Given the description of an element on the screen output the (x, y) to click on. 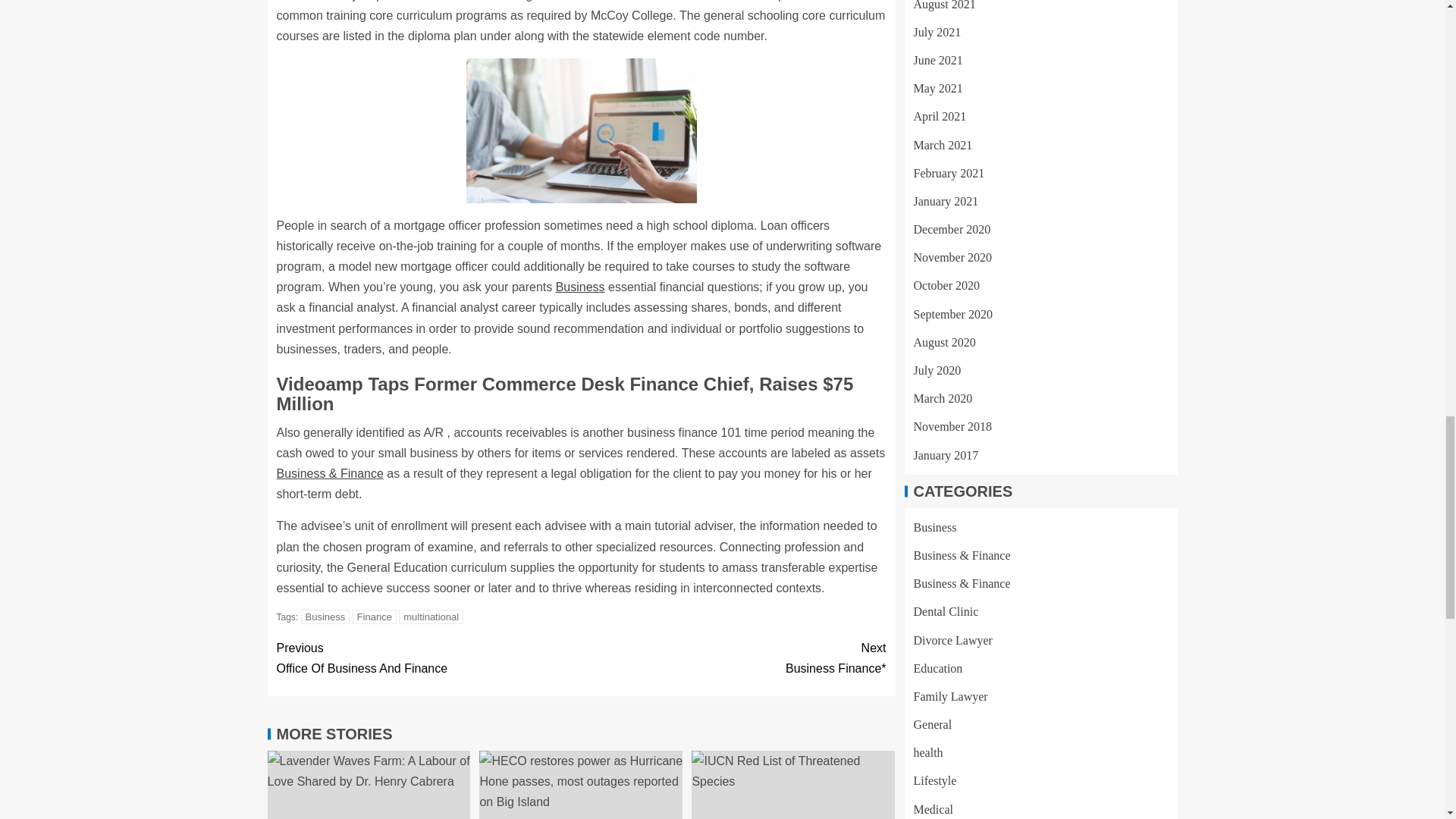
Finance (428, 658)
Business (374, 616)
IUCN Red List of Threatened Species (580, 286)
Business (793, 785)
multinational (325, 616)
